Given the description of an element on the screen output the (x, y) to click on. 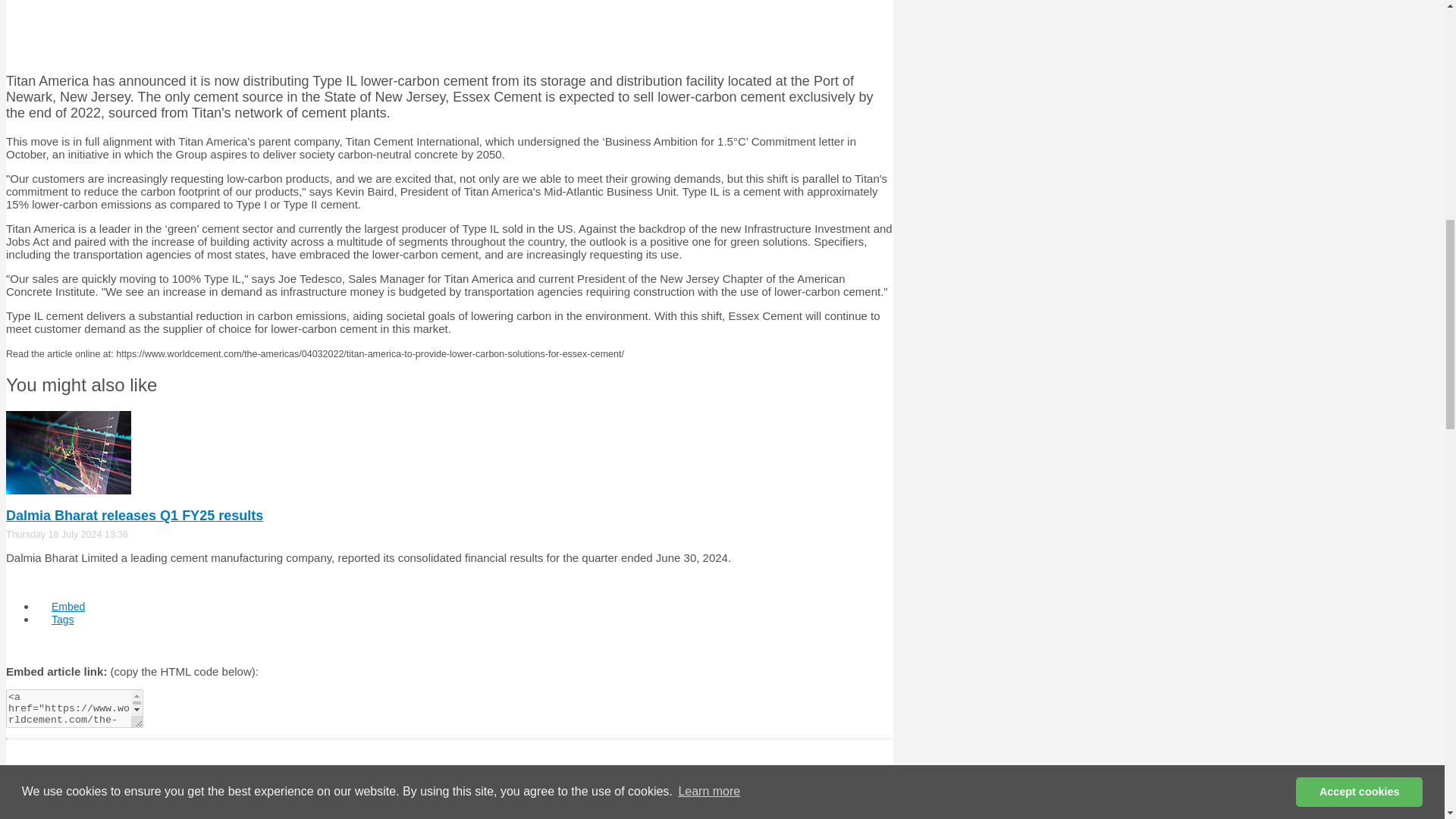
Dalmia Bharat releases Q1 FY25 results (134, 515)
US cement news (48, 809)
3rd party ad content (449, 29)
Embed (68, 605)
Tags (62, 619)
